Given the description of an element on the screen output the (x, y) to click on. 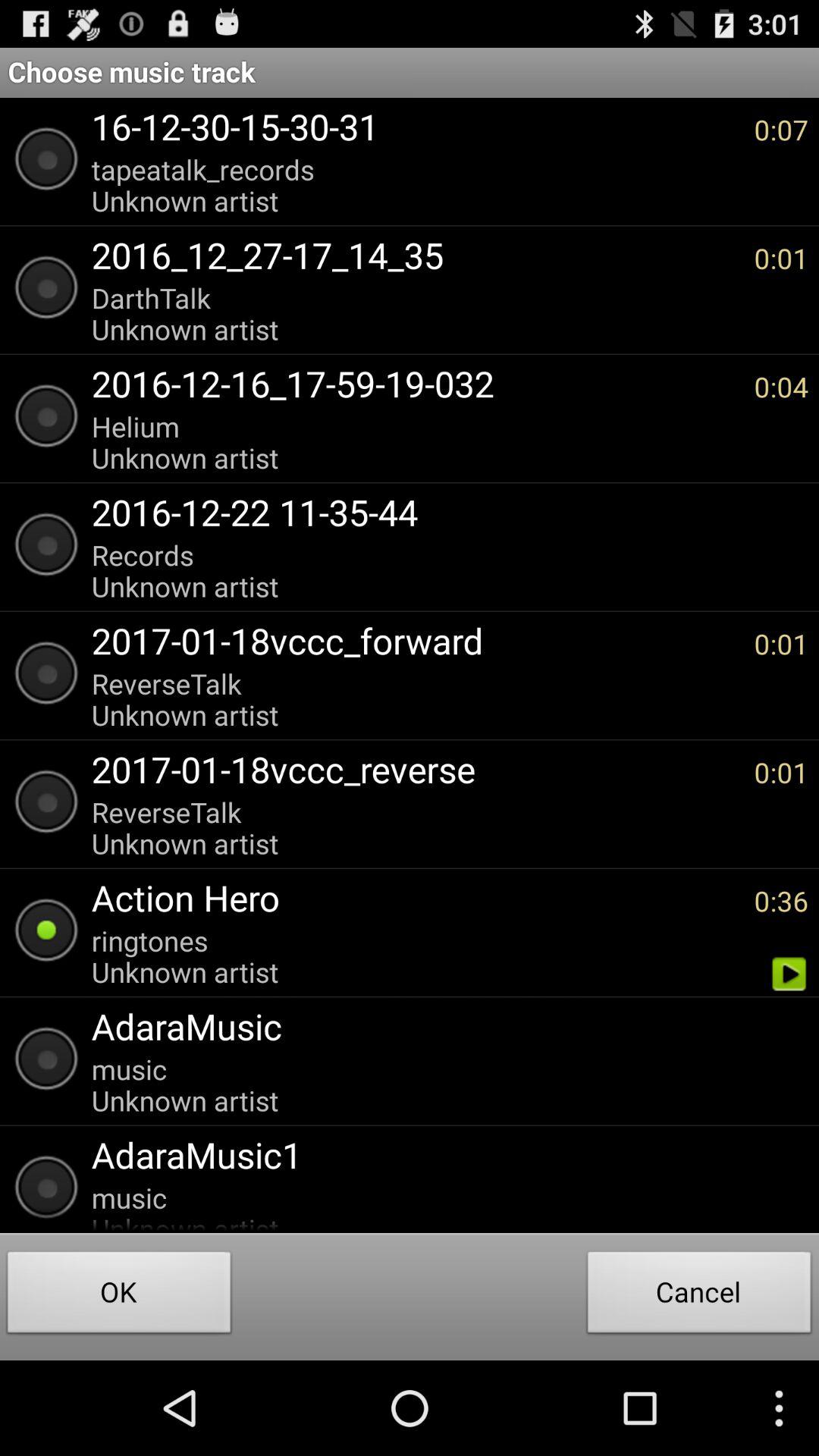
turn on the icon below the 0:36 (789, 973)
